Given the description of an element on the screen output the (x, y) to click on. 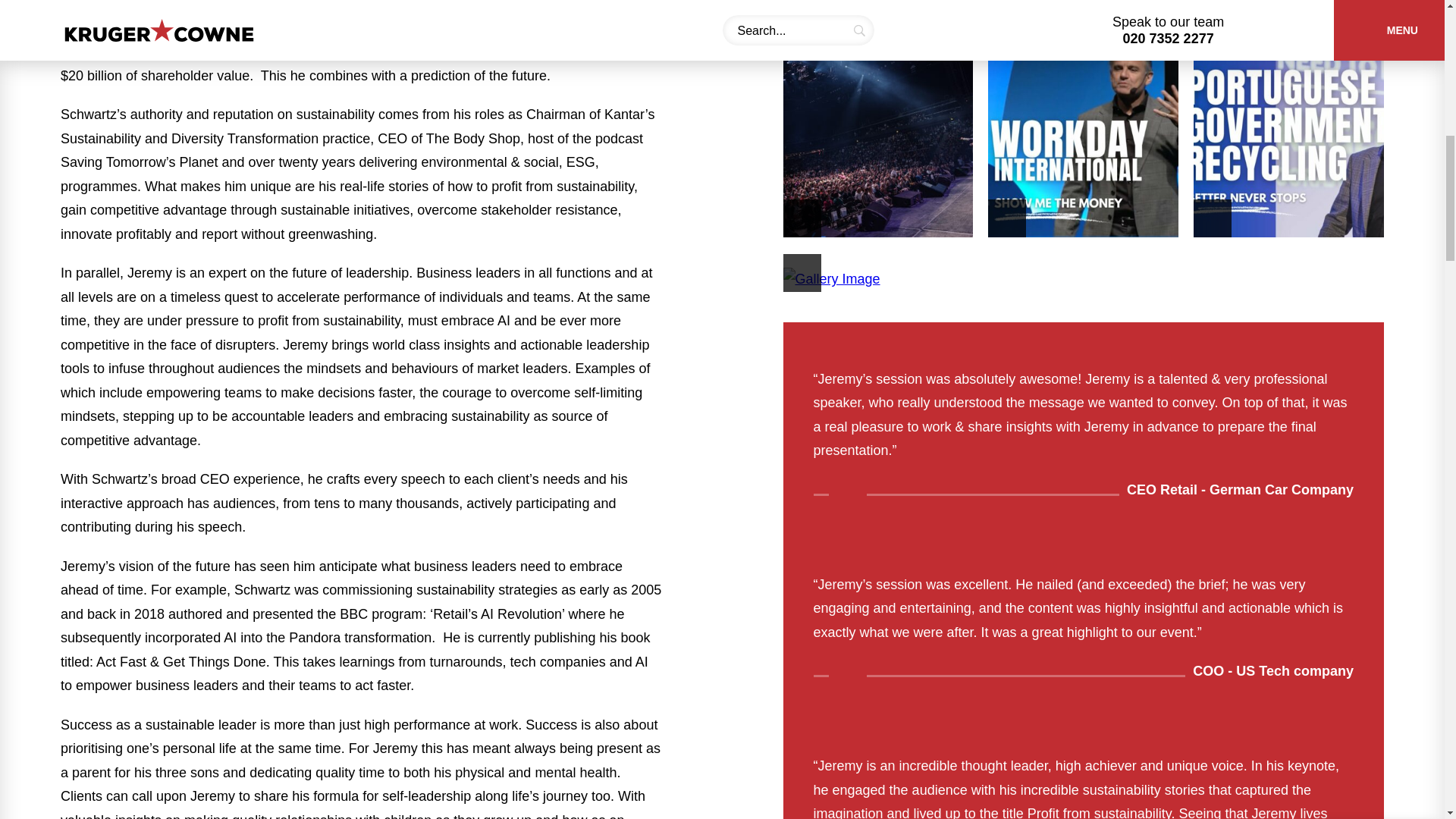
Your Shortlist (1370, 25)
